Given the description of an element on the screen output the (x, y) to click on. 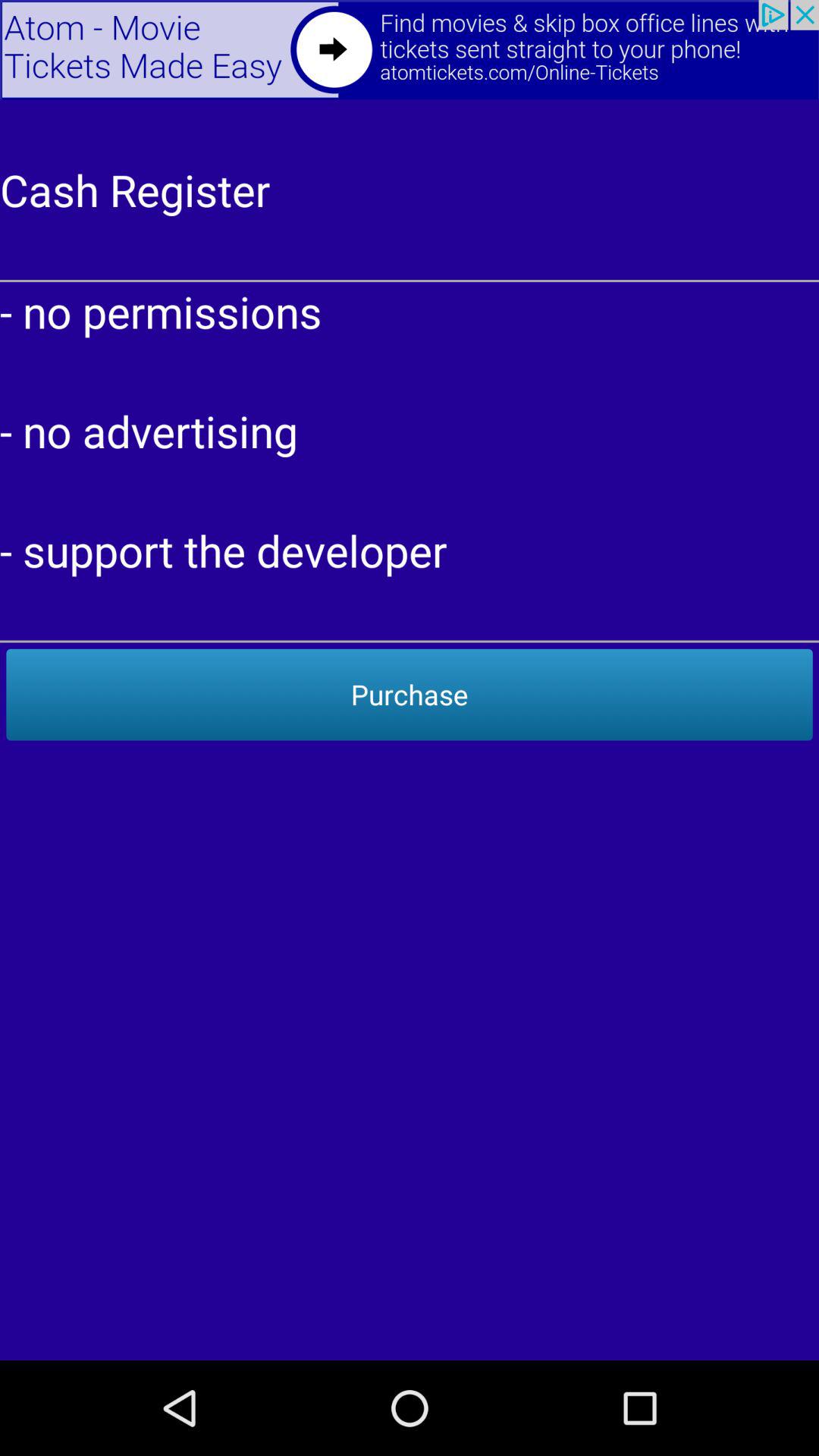
advertisement (409, 49)
